Given the description of an element on the screen output the (x, y) to click on. 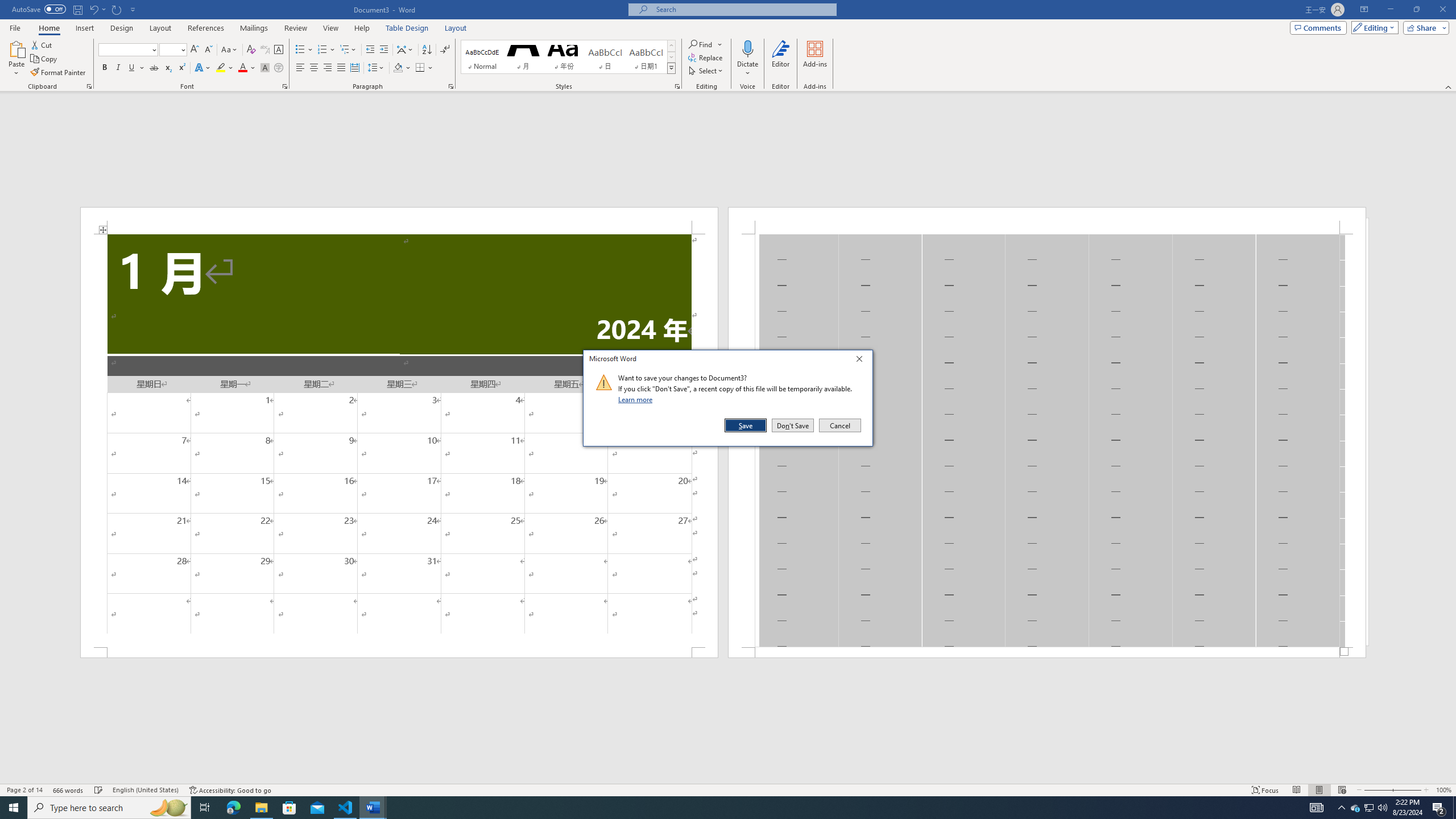
Word - 2 running windows (373, 807)
Visual Studio Code - 1 running window (345, 807)
Microsoft Edge (233, 807)
Font... (285, 85)
Start (13, 807)
Shrink Font (208, 49)
Superscript (180, 67)
Row up (670, 45)
